Given the description of an element on the screen output the (x, y) to click on. 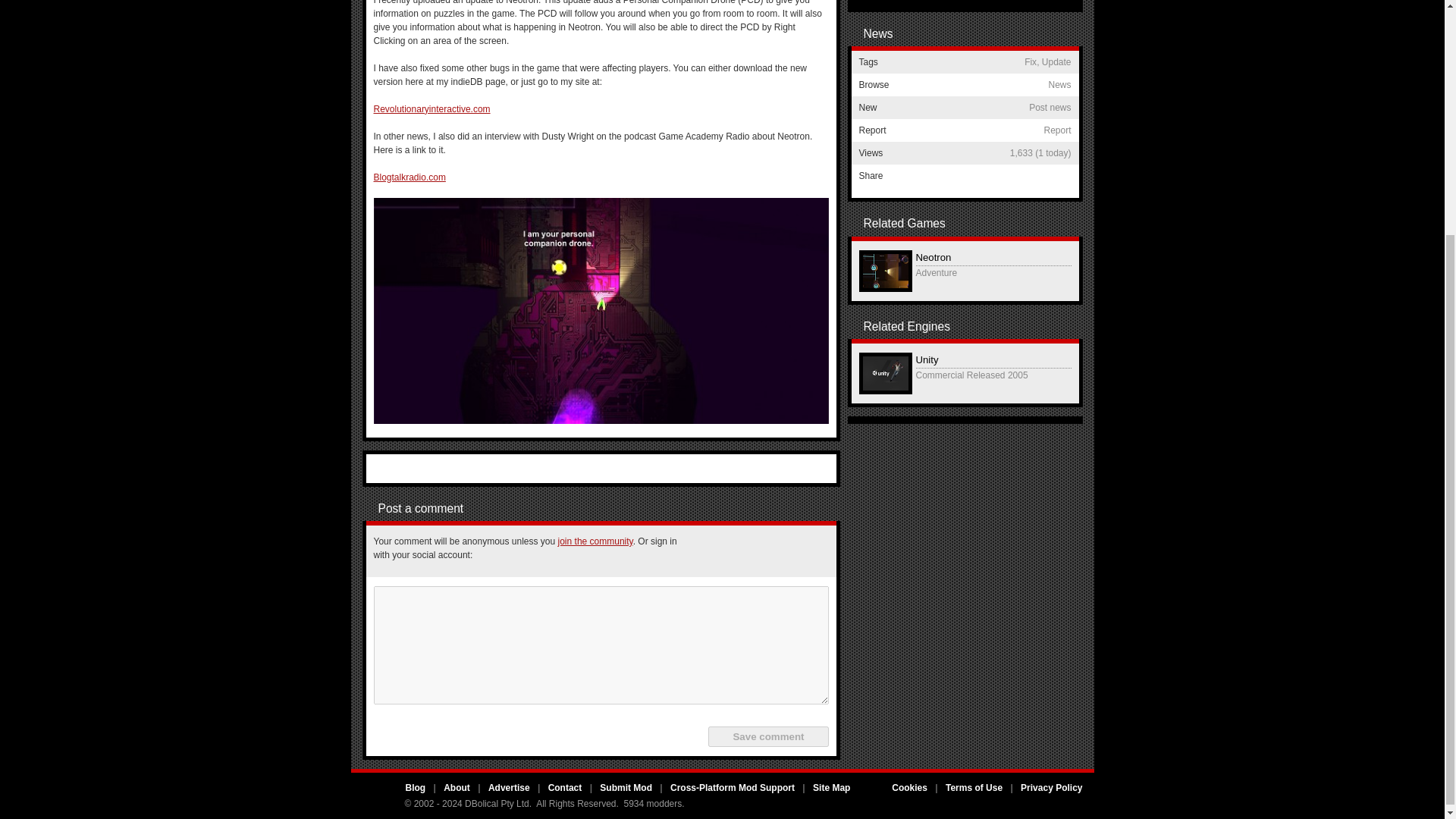
Save comment (767, 736)
Click to connect via Twitter (739, 551)
Click to connect via Facebook (703, 551)
Click to connect via Google (776, 551)
Click to connect via Steam (812, 551)
